Given the description of an element on the screen output the (x, y) to click on. 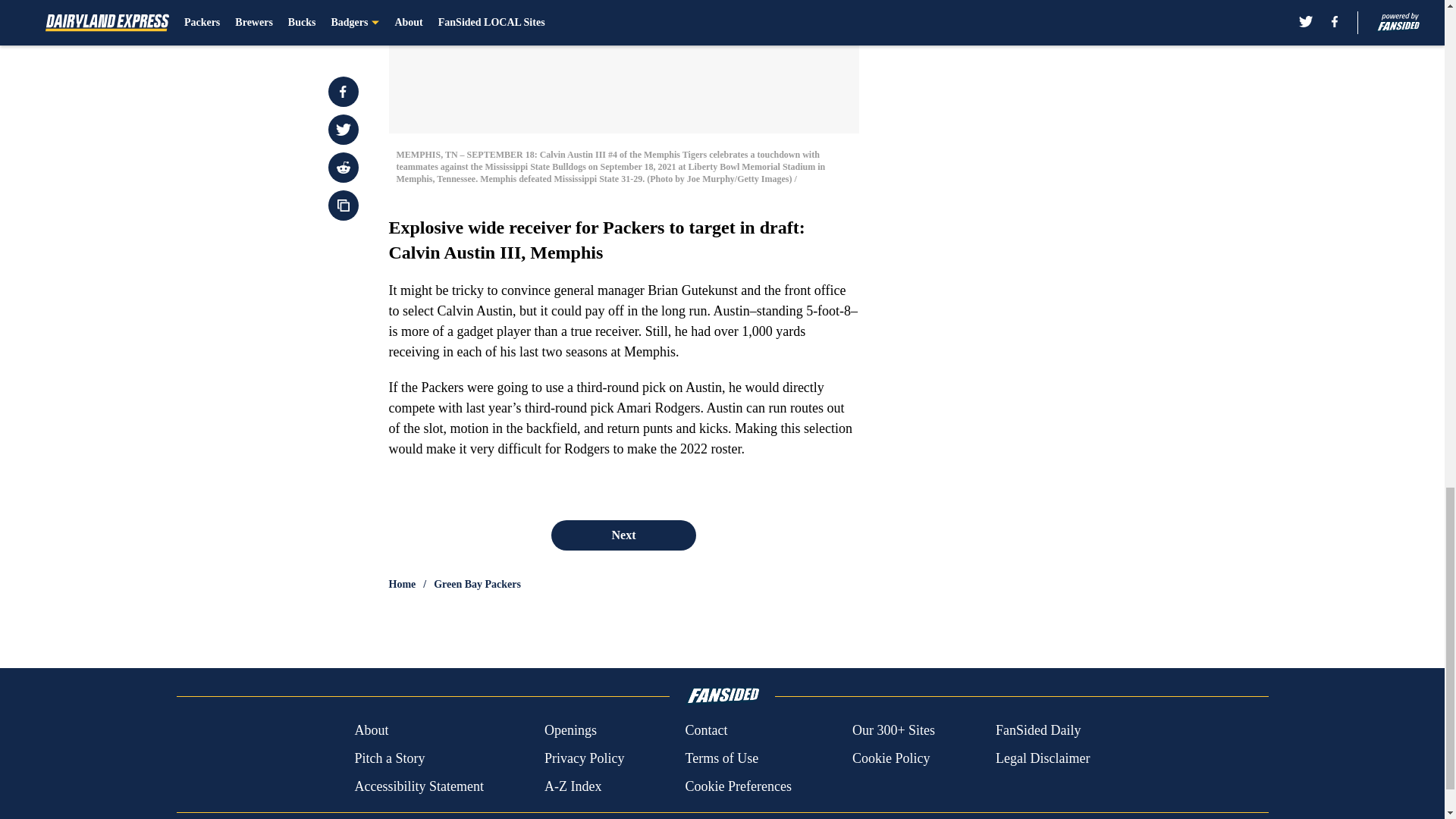
Home (401, 584)
Green Bay Packers (477, 584)
Openings (570, 730)
Cookie Preferences (737, 786)
A-Z Index (572, 786)
Pitch a Story (389, 758)
Legal Disclaimer (1042, 758)
Privacy Policy (584, 758)
About (370, 730)
FanSided Daily (1038, 730)
